Given the description of an element on the screen output the (x, y) to click on. 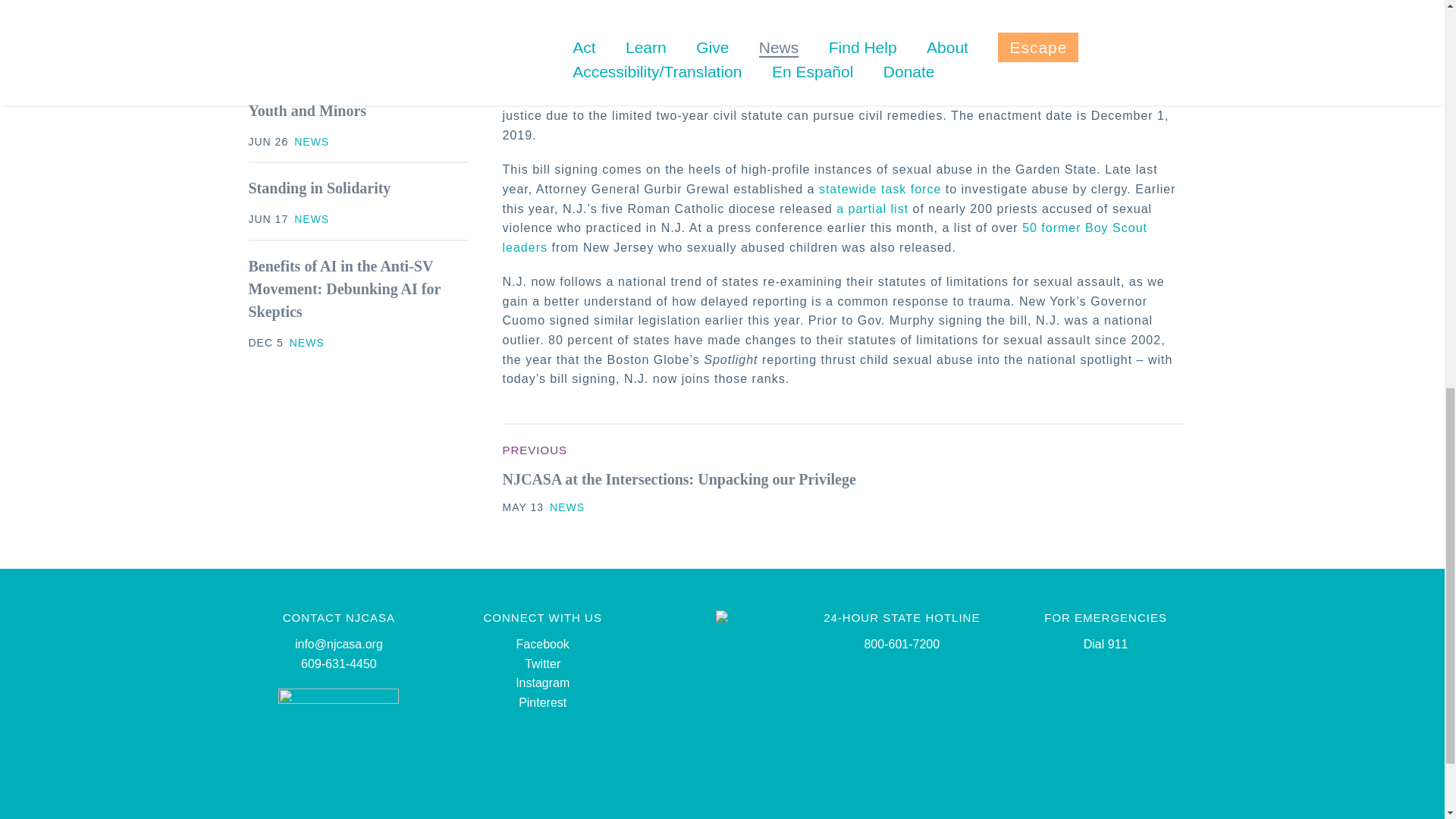
a partial list (871, 208)
NEWS (306, 342)
NEWS (311, 141)
Standing in Solidarity (319, 187)
50 former Boy Scout leaders (824, 237)
statewide task force (879, 188)
NEWS (567, 507)
NJCASA at the Intersections: Unpacking our Privilege (679, 478)
NEWS (311, 218)
